Given the description of an element on the screen output the (x, y) to click on. 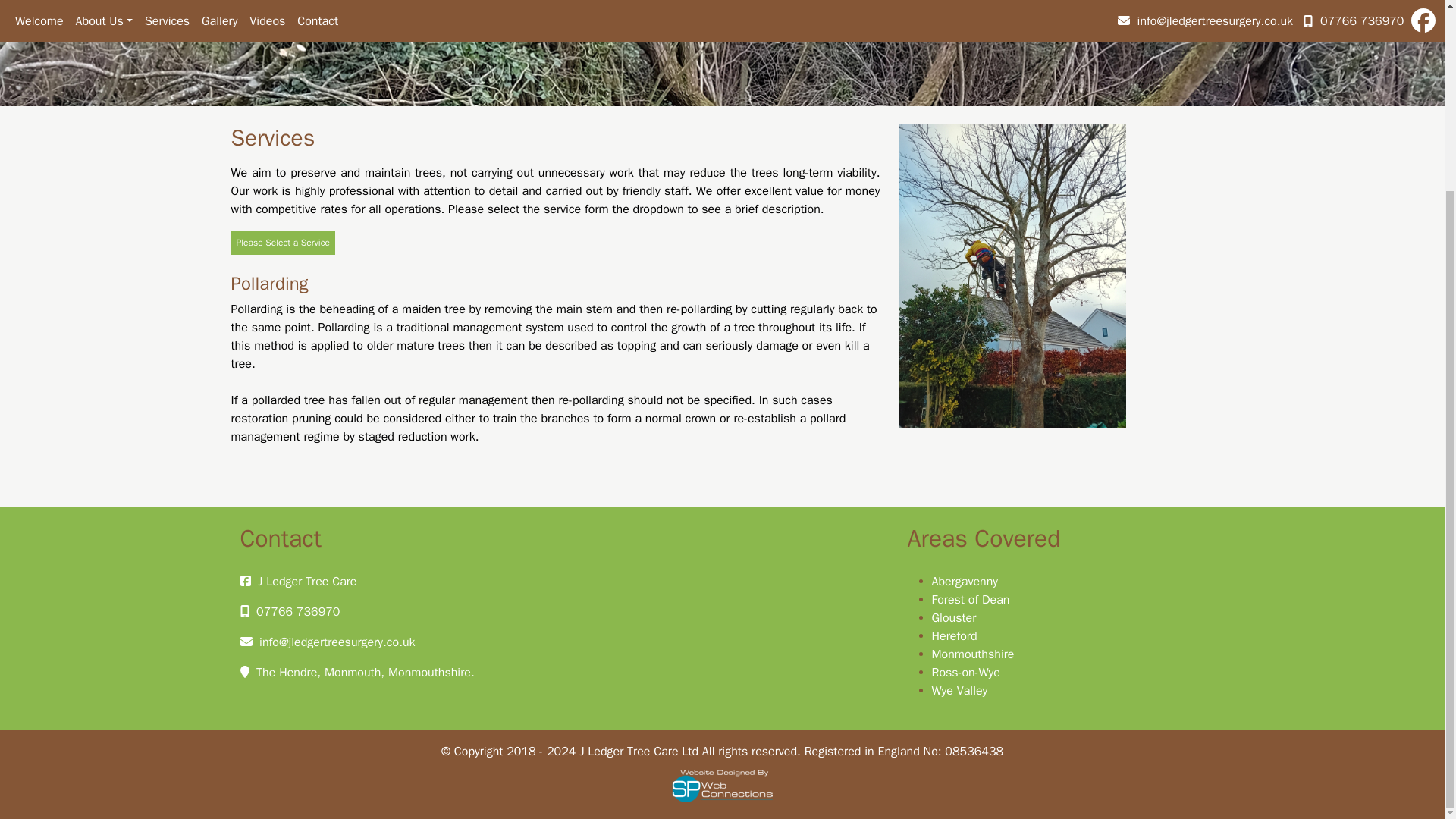
J Ledger Tree Care (306, 581)
Please Select a Service (282, 242)
